Given the description of an element on the screen output the (x, y) to click on. 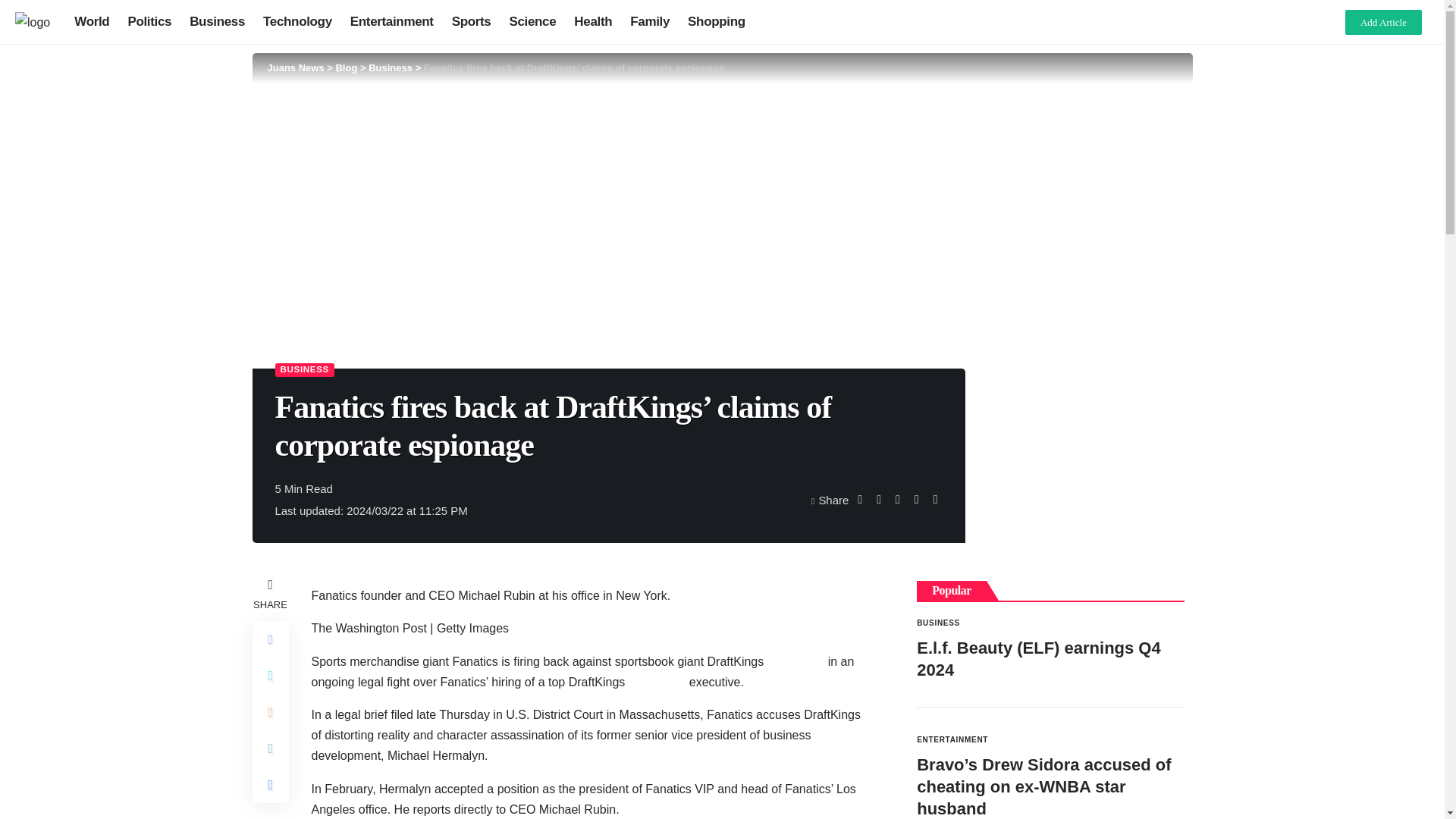
Health (592, 22)
Go to Juans News. (294, 67)
Technology (296, 22)
Business (390, 67)
Family (649, 22)
Politics (148, 22)
Sports (471, 22)
Add Article (1383, 21)
Juans News (294, 67)
Entertainment (391, 22)
Science (531, 22)
Business (216, 22)
Go to the Business Category archives. (390, 67)
Shopping (716, 22)
World (91, 22)
